Given the description of an element on the screen output the (x, y) to click on. 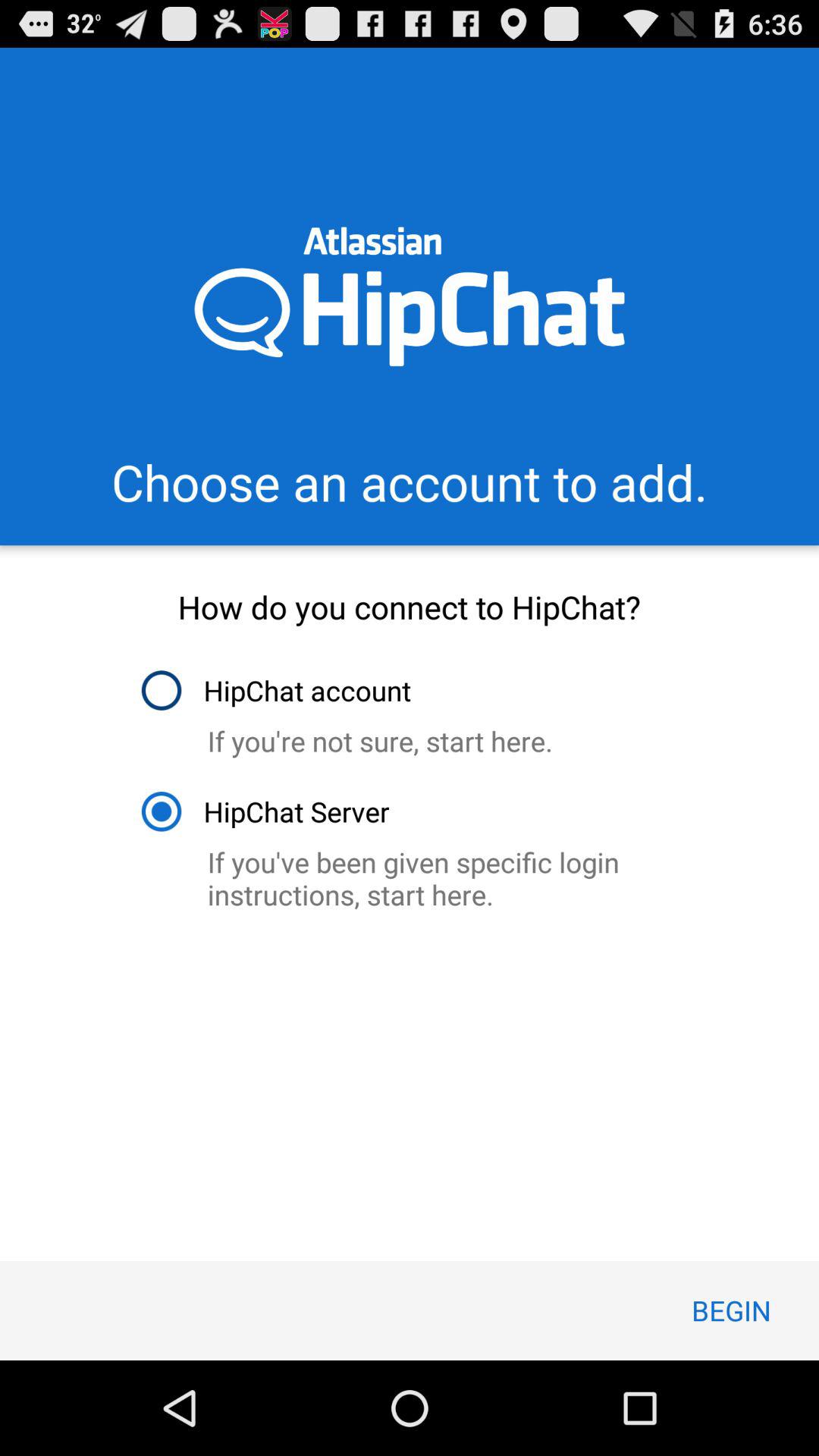
press the item above if you re item (275, 690)
